Given the description of an element on the screen output the (x, y) to click on. 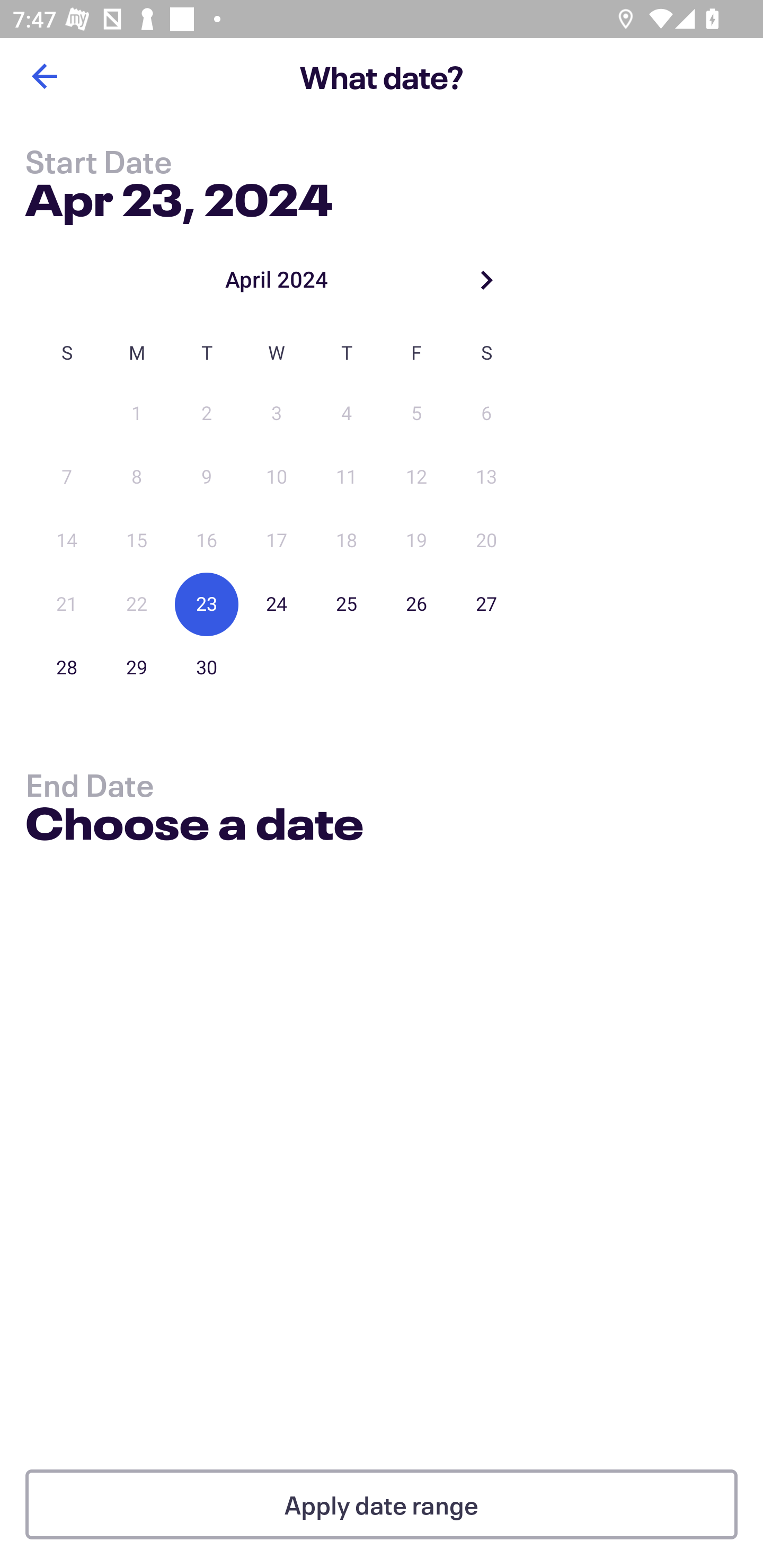
Back button (44, 75)
Apr 23, 2024 (178, 195)
Next month (486, 279)
1 01 April 2024 (136, 413)
2 02 April 2024 (206, 413)
3 03 April 2024 (276, 413)
4 04 April 2024 (346, 413)
5 05 April 2024 (416, 413)
6 06 April 2024 (486, 413)
7 07 April 2024 (66, 477)
8 08 April 2024 (136, 477)
9 09 April 2024 (206, 477)
10 10 April 2024 (276, 477)
11 11 April 2024 (346, 477)
12 12 April 2024 (416, 477)
13 13 April 2024 (486, 477)
14 14 April 2024 (66, 540)
15 15 April 2024 (136, 540)
16 16 April 2024 (206, 540)
17 17 April 2024 (276, 540)
18 18 April 2024 (346, 540)
19 19 April 2024 (416, 540)
20 20 April 2024 (486, 540)
21 21 April 2024 (66, 604)
22 22 April 2024 (136, 604)
23 23 April 2024 (206, 604)
24 24 April 2024 (276, 604)
25 25 April 2024 (346, 604)
26 26 April 2024 (416, 604)
27 27 April 2024 (486, 604)
28 28 April 2024 (66, 667)
29 29 April 2024 (136, 667)
30 30 April 2024 (206, 667)
Choose a date (194, 826)
Apply date range (381, 1504)
